Given the description of an element on the screen output the (x, y) to click on. 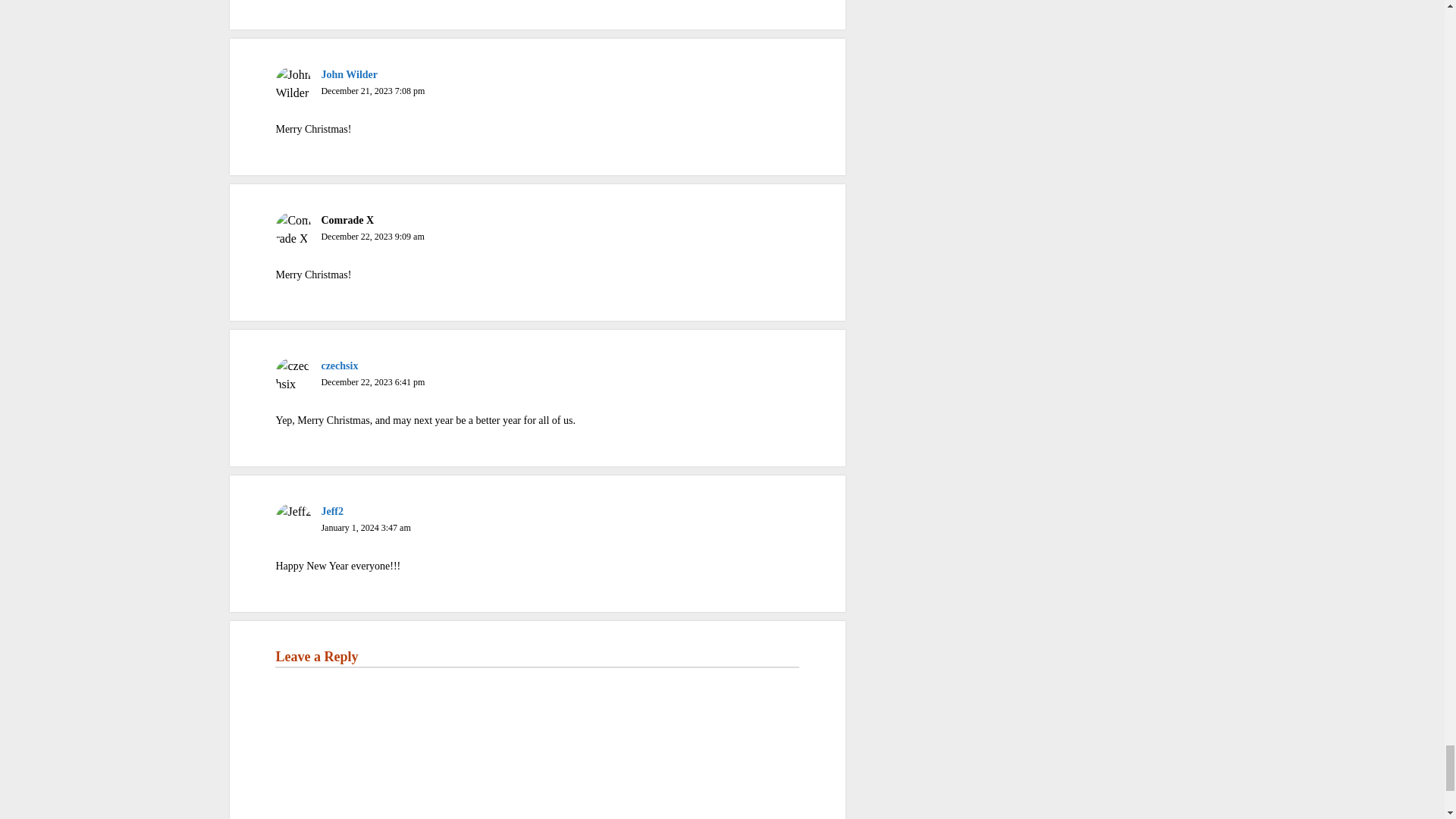
Comment Form (537, 742)
